Given the description of an element on the screen output the (x, y) to click on. 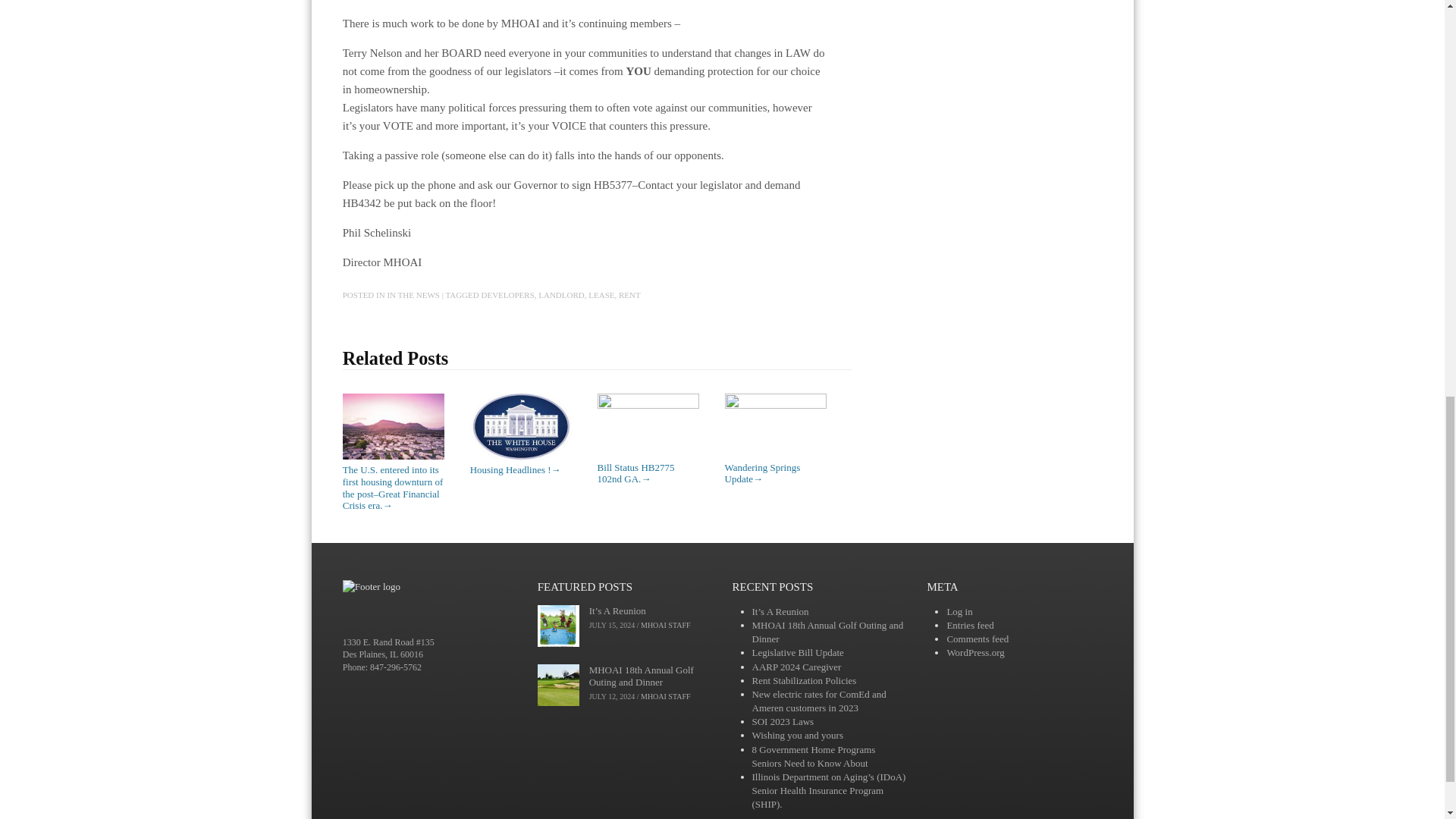
RENT (629, 294)
Monday, July 15th, 2024, 4:05 pm (611, 624)
MHOAI Staff (665, 624)
LEASE (601, 294)
LANDLORD (561, 294)
DEVELOPERS (507, 294)
IN THE NEWS (413, 294)
